Given the description of an element on the screen output the (x, y) to click on. 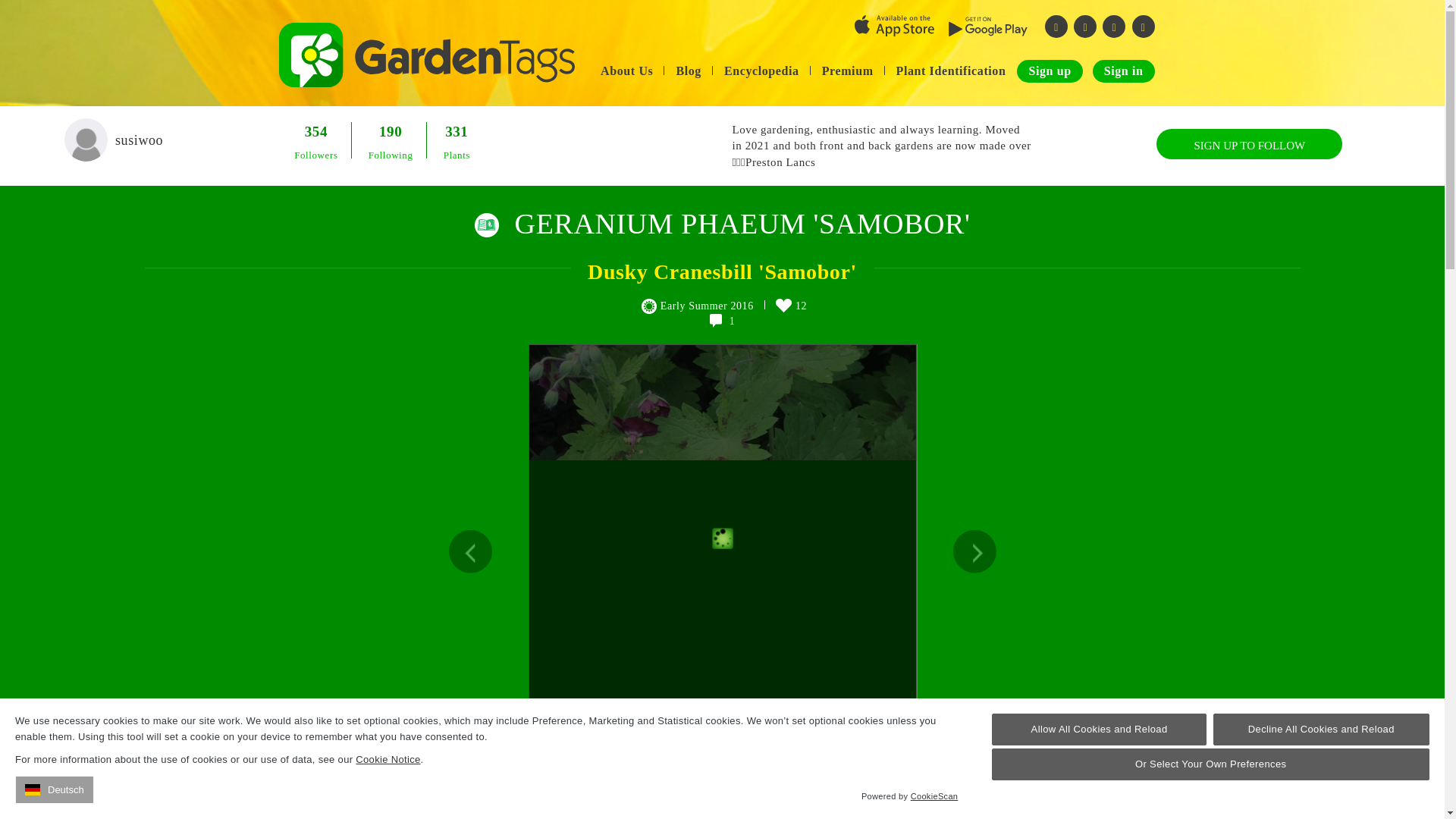
About Us (626, 71)
Plant Identification (951, 71)
About Us (626, 71)
Blog (688, 71)
plant image 90555 (698, 514)
Profile Image Sue Walker (85, 139)
Sign up (1048, 70)
Premium (847, 71)
GERANIUM PHAEUM 'SAMOBOR' (743, 223)
Sign up (1048, 70)
